Given the description of an element on the screen output the (x, y) to click on. 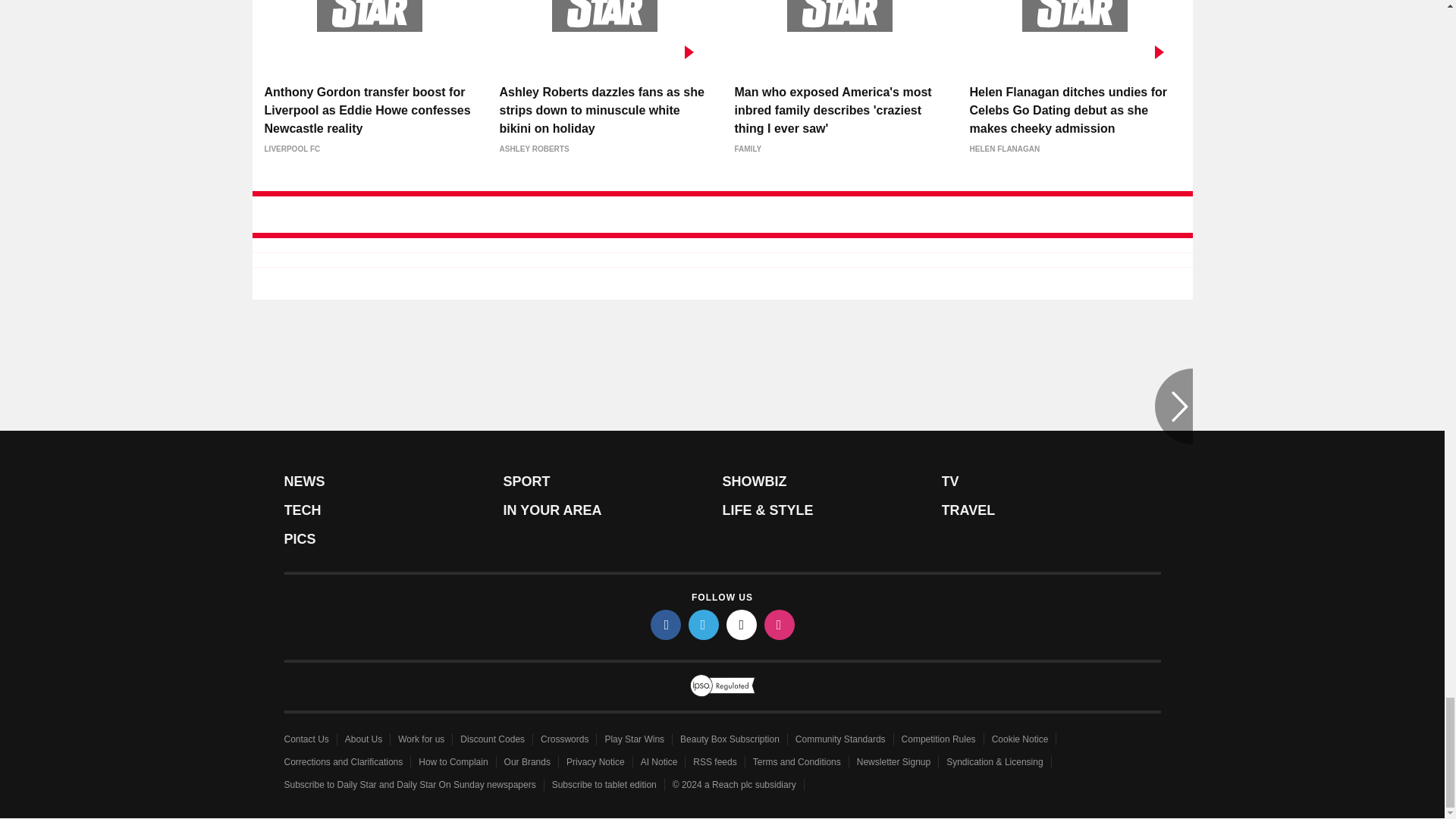
twitter (703, 624)
instagram (779, 624)
facebook (665, 624)
tiktok (741, 624)
